Given the description of an element on the screen output the (x, y) to click on. 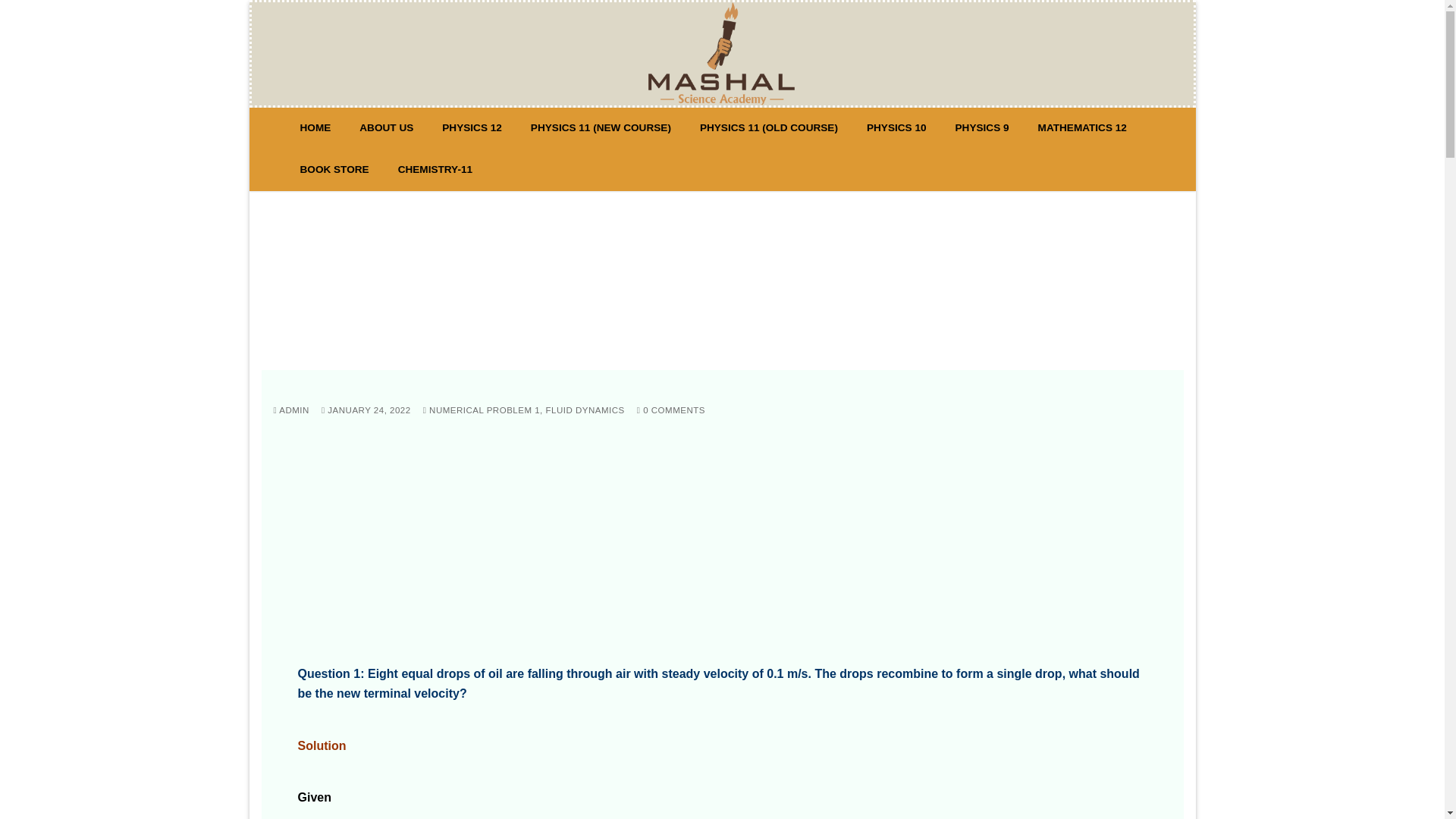
JANUARY 24, 2022 (365, 409)
PHYSICS 12 (472, 128)
ADMIN (290, 409)
ABOUT US (386, 128)
PHYSICS 9 (981, 128)
0 COMMENTS (670, 409)
HOME (314, 128)
CHEMISTRY-11 (434, 169)
PHYSICS 10 (896, 128)
NUMERICAL PROBLEM 1, FLUID DYNAMICS (523, 409)
MATHEMATICS 12 (1082, 128)
BOOK STORE (333, 169)
